Given the description of an element on the screen output the (x, y) to click on. 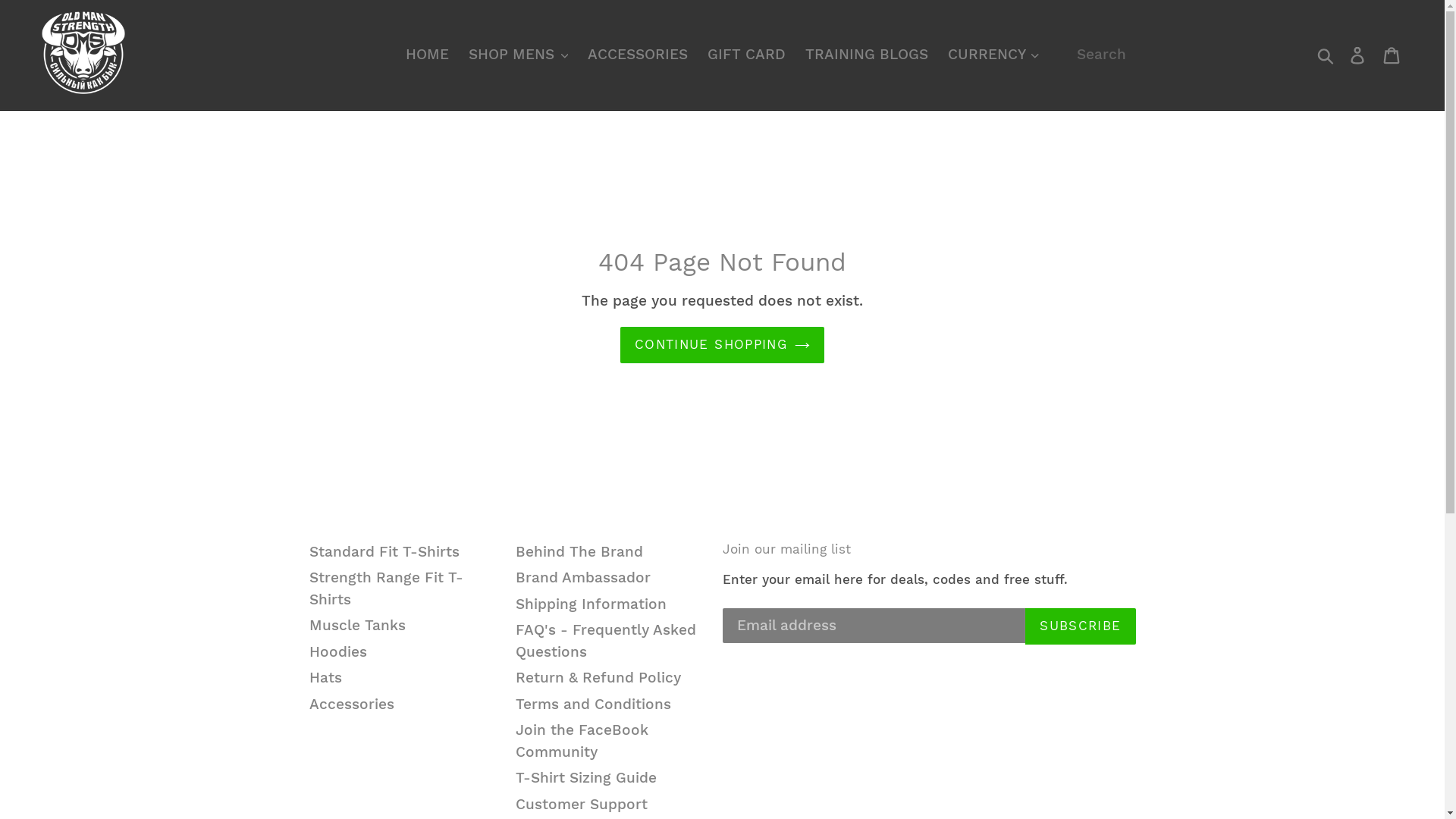
Behind The Brand Element type: text (579, 551)
GIFT CARD Element type: text (746, 54)
Accessories Element type: text (351, 703)
Muscle Tanks Element type: text (357, 624)
SUBSCRIBE Element type: text (1080, 626)
CONTINUE SHOPPING Element type: text (722, 344)
Cart Element type: text (1392, 54)
T-Shirt Sizing Guide Element type: text (585, 777)
ACCESSORIES Element type: text (637, 54)
Submit Element type: text (1326, 54)
Hoodies Element type: text (338, 651)
Customer Support Element type: text (581, 803)
Log in Element type: text (1358, 54)
Hats Element type: text (325, 677)
HOME Element type: text (427, 54)
Shipping Information Element type: text (590, 603)
Strength Range Fit T-Shirts Element type: text (386, 588)
Join the FaceBook Community Element type: text (581, 740)
FAQ's - Frequently Asked Questions Element type: text (605, 640)
TRAINING BLOGS Element type: text (866, 54)
Return & Refund Policy Element type: text (597, 677)
Terms and Conditions Element type: text (593, 703)
Standard Fit T-Shirts Element type: text (384, 551)
Brand Ambassador Element type: text (582, 577)
